Given the description of an element on the screen output the (x, y) to click on. 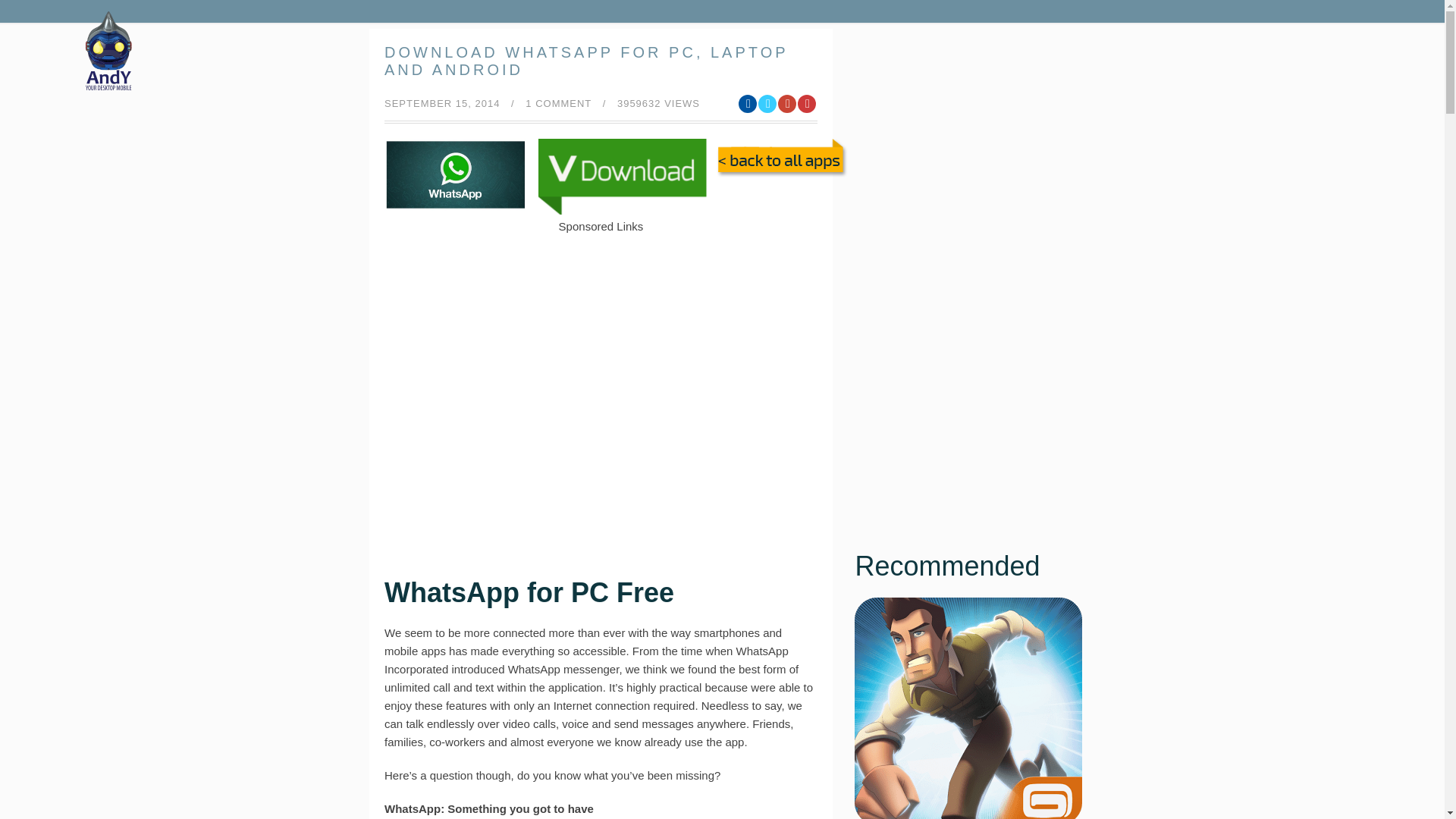
DOWNLOAD WHATSAPP FOR PC, LAPTOP AND ANDROID (585, 60)
1 COMMENT (558, 102)
Advertisement (600, 419)
Advertisement (600, 269)
